Given the description of an element on the screen output the (x, y) to click on. 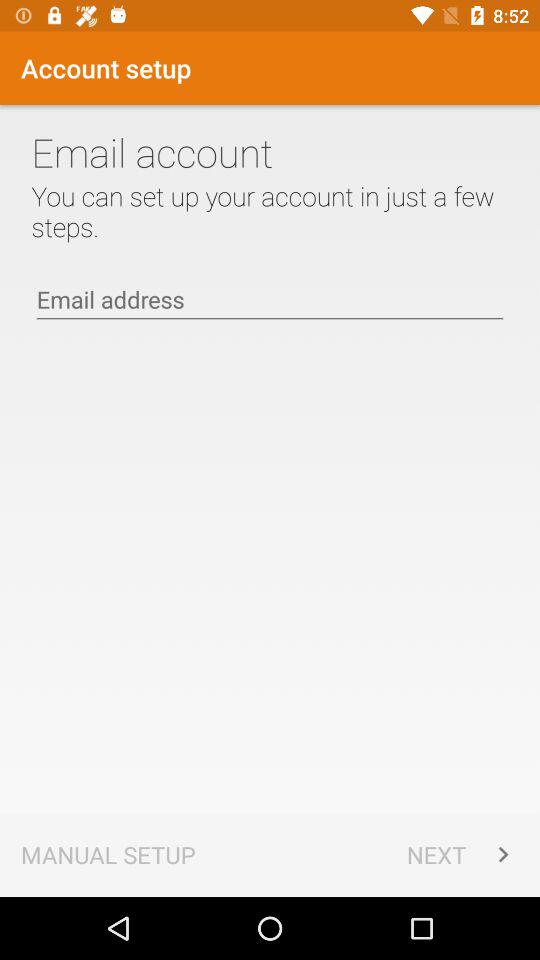
tap manual setup icon (108, 854)
